Given the description of an element on the screen output the (x, y) to click on. 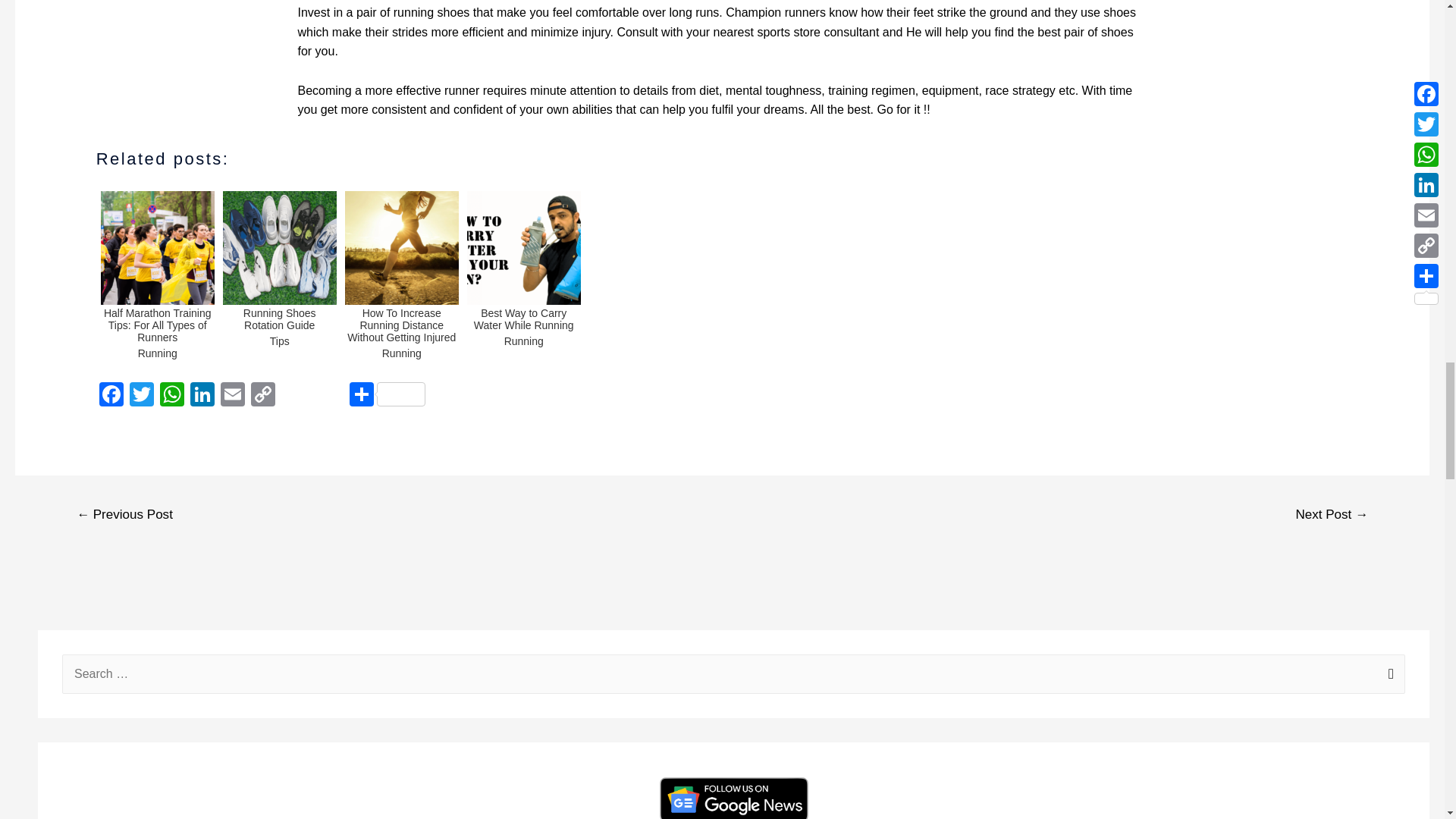
Twitter (141, 396)
Copy Link (262, 396)
Email (231, 396)
LinkedIn (201, 396)
Facebook (111, 396)
WhatsApp (172, 396)
Twitter (141, 396)
WhatsApp (172, 396)
Facebook (111, 396)
Email (231, 396)
